Given the description of an element on the screen output the (x, y) to click on. 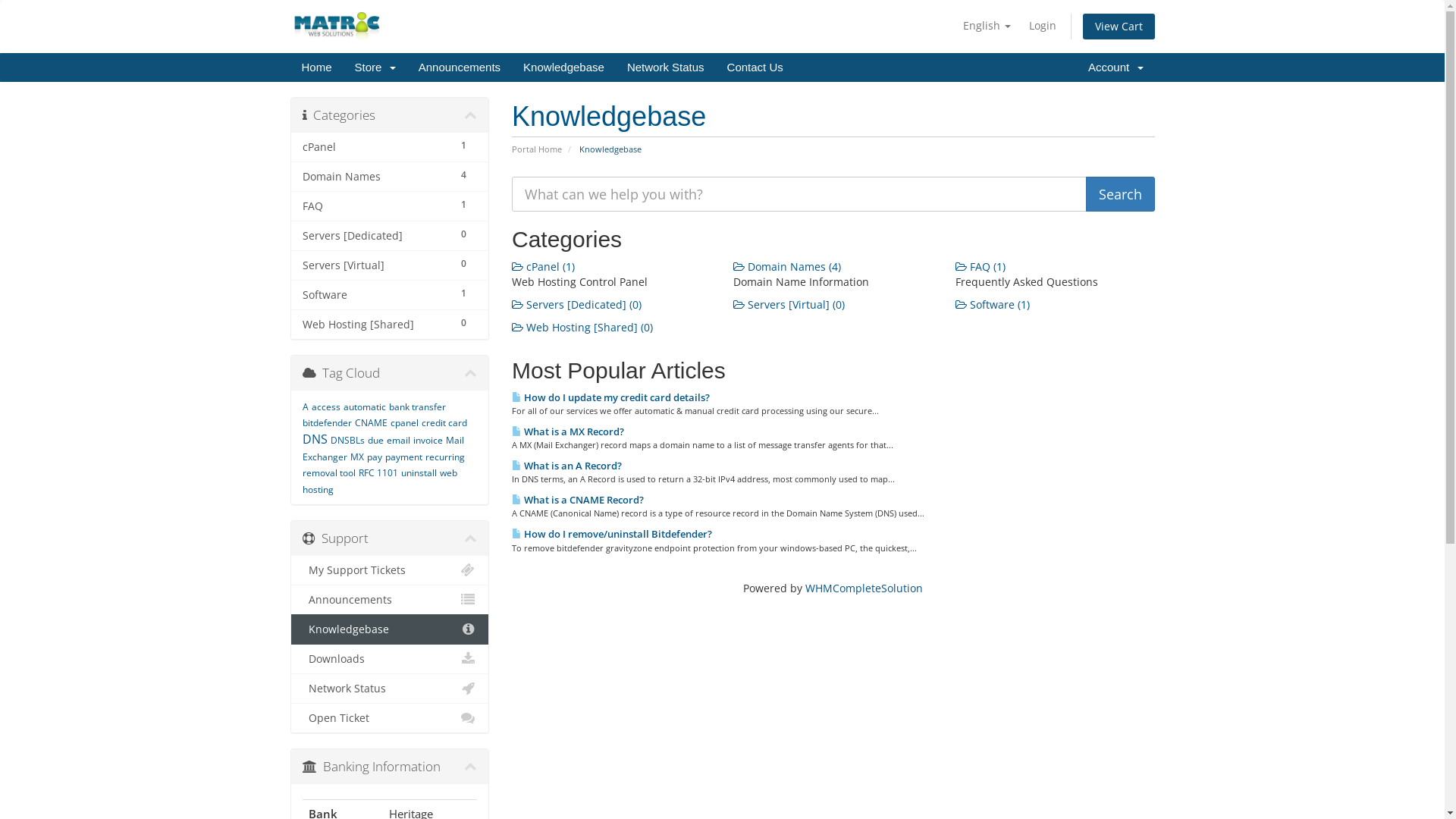
credit card Element type: text (444, 422)
cPanel (1) Element type: text (542, 266)
  Knowledgebase Element type: text (390, 629)
1
cPanel Element type: text (390, 147)
English Element type: text (986, 25)
RFC 1101 Element type: text (377, 472)
A Element type: text (304, 406)
1
Software Element type: text (390, 294)
 What is a CNAME Record? Element type: text (577, 499)
0
Servers [Virtual] Element type: text (390, 265)
 How do I remove/uninstall Bitdefender? Element type: text (611, 533)
bitdefender Element type: text (326, 422)
Announcements Element type: text (459, 67)
MX Element type: text (357, 456)
bank transfer Element type: text (416, 406)
Web Hosting [Shared] (0) Element type: text (581, 327)
WHMCompleteSolution Element type: text (863, 587)
Home Element type: text (315, 67)
automatic Element type: text (363, 406)
 How do I update my credit card details? Element type: text (610, 397)
Login Element type: text (1041, 25)
  Network Status Element type: text (390, 688)
pay Element type: text (374, 456)
Servers [Dedicated] (0) Element type: text (576, 304)
Account   Element type: text (1115, 67)
View Cart Element type: text (1118, 26)
0
Web Hosting [Shared] Element type: text (390, 323)
  My Support Tickets Element type: text (390, 570)
Domain Names (4) Element type: text (786, 266)
 What is a MX Record? Element type: text (567, 431)
due Element type: text (374, 439)
  Open Ticket Element type: text (390, 717)
recurring Element type: text (444, 456)
cpanel Element type: text (403, 422)
Servers [Virtual] (0) Element type: text (788, 304)
  Announcements Element type: text (390, 599)
email Element type: text (398, 439)
  Downloads Element type: text (390, 658)
Contact Us Element type: text (754, 67)
FAQ (1) Element type: text (980, 266)
 What is an A Record? Element type: text (566, 465)
CNAME Element type: text (370, 422)
4
Domain Names Element type: text (390, 176)
1
FAQ Element type: text (390, 206)
Search Element type: text (1119, 193)
Network Status Element type: text (665, 67)
DNS Element type: text (313, 438)
0
Servers [Dedicated] Element type: text (390, 235)
removal tool Element type: text (327, 472)
DNSBLs Element type: text (347, 439)
Store   Element type: text (375, 67)
access Element type: text (324, 406)
uninstall Element type: text (418, 472)
Knowledgebase Element type: text (563, 67)
web hosting Element type: text (378, 480)
Mail Exchanger Element type: text (382, 448)
Portal Home Element type: text (536, 148)
invoice Element type: text (427, 439)
payment Element type: text (403, 456)
Software (1) Element type: text (992, 304)
